Given the description of an element on the screen output the (x, y) to click on. 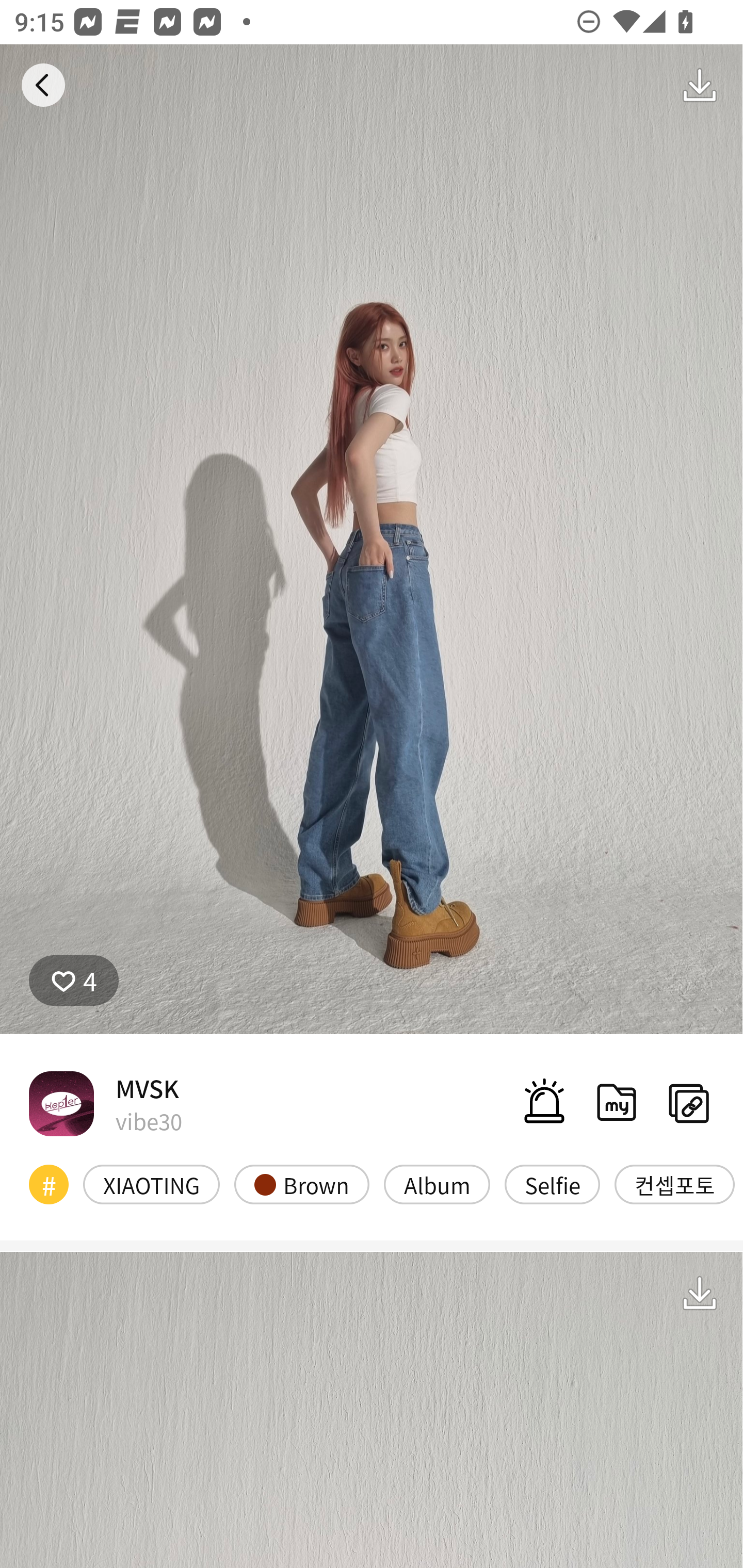
4 (73, 980)
MVSK vibe30 (105, 1102)
XIAOTING (151, 1184)
Brown (301, 1184)
Album (437, 1184)
Selfie (552, 1184)
컨셉포토 (674, 1184)
